Given the description of an element on the screen output the (x, y) to click on. 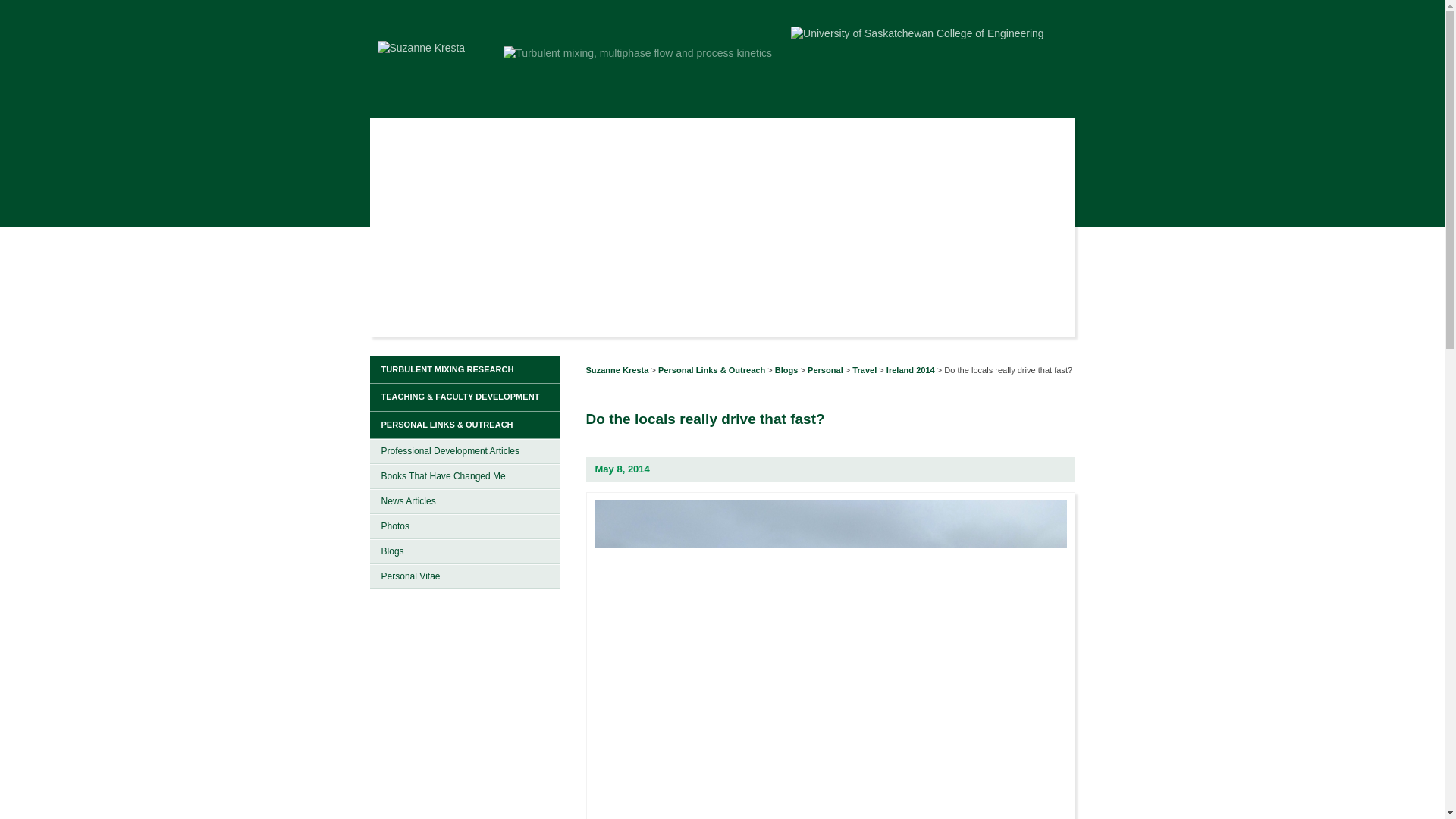
Personal Vitae (464, 576)
Photos (464, 526)
Blogs (785, 369)
TURBULENT MIXING RESEARCH (464, 370)
Suzanne Kresta (616, 369)
News Articles (464, 501)
Professional Development Articles (464, 451)
Travel (863, 369)
Blogs (464, 551)
Books That Have Changed Me (464, 476)
Personal (825, 369)
Ireland 2014 (910, 369)
